Given the description of an element on the screen output the (x, y) to click on. 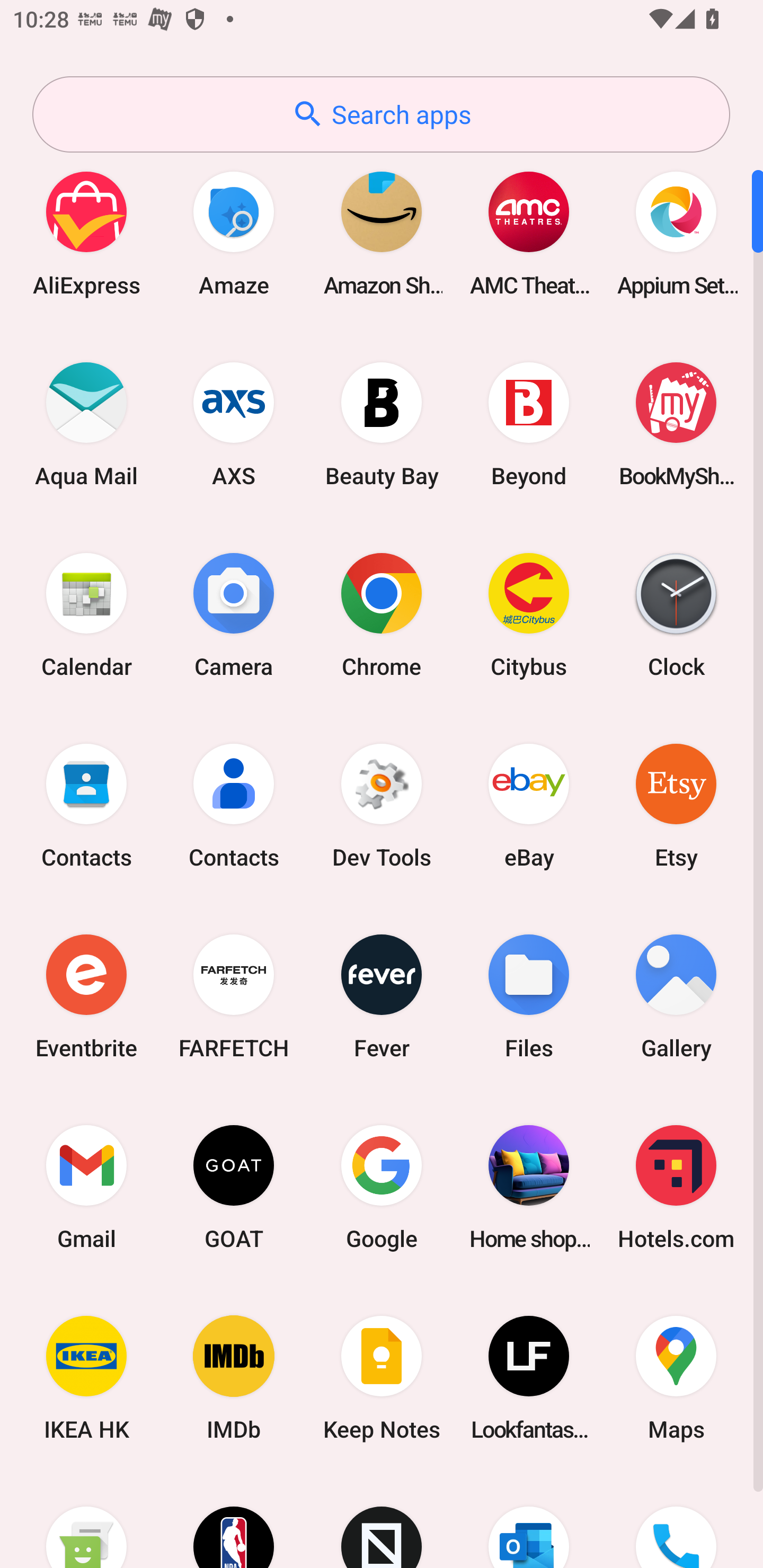
  Search apps (381, 114)
AliExpress (86, 233)
Amaze (233, 233)
Amazon Shopping (381, 233)
AMC Theatres (528, 233)
Appium Settings (676, 233)
Aqua Mail (86, 424)
AXS (233, 424)
Beauty Bay (381, 424)
Beyond (528, 424)
BookMyShow (676, 424)
Calendar (86, 614)
Camera (233, 614)
Chrome (381, 614)
Citybus (528, 614)
Clock (676, 614)
Contacts (86, 805)
Contacts (233, 805)
Dev Tools (381, 805)
eBay (528, 805)
Etsy (676, 805)
Eventbrite (86, 996)
FARFETCH (233, 996)
Fever (381, 996)
Files (528, 996)
Gallery (676, 996)
Gmail (86, 1186)
GOAT (233, 1186)
Google (381, 1186)
Home shopping (528, 1186)
Hotels.com (676, 1186)
IKEA HK (86, 1377)
IMDb (233, 1377)
Keep Notes (381, 1377)
Lookfantastic (528, 1377)
Maps (676, 1377)
